Given the description of an element on the screen output the (x, y) to click on. 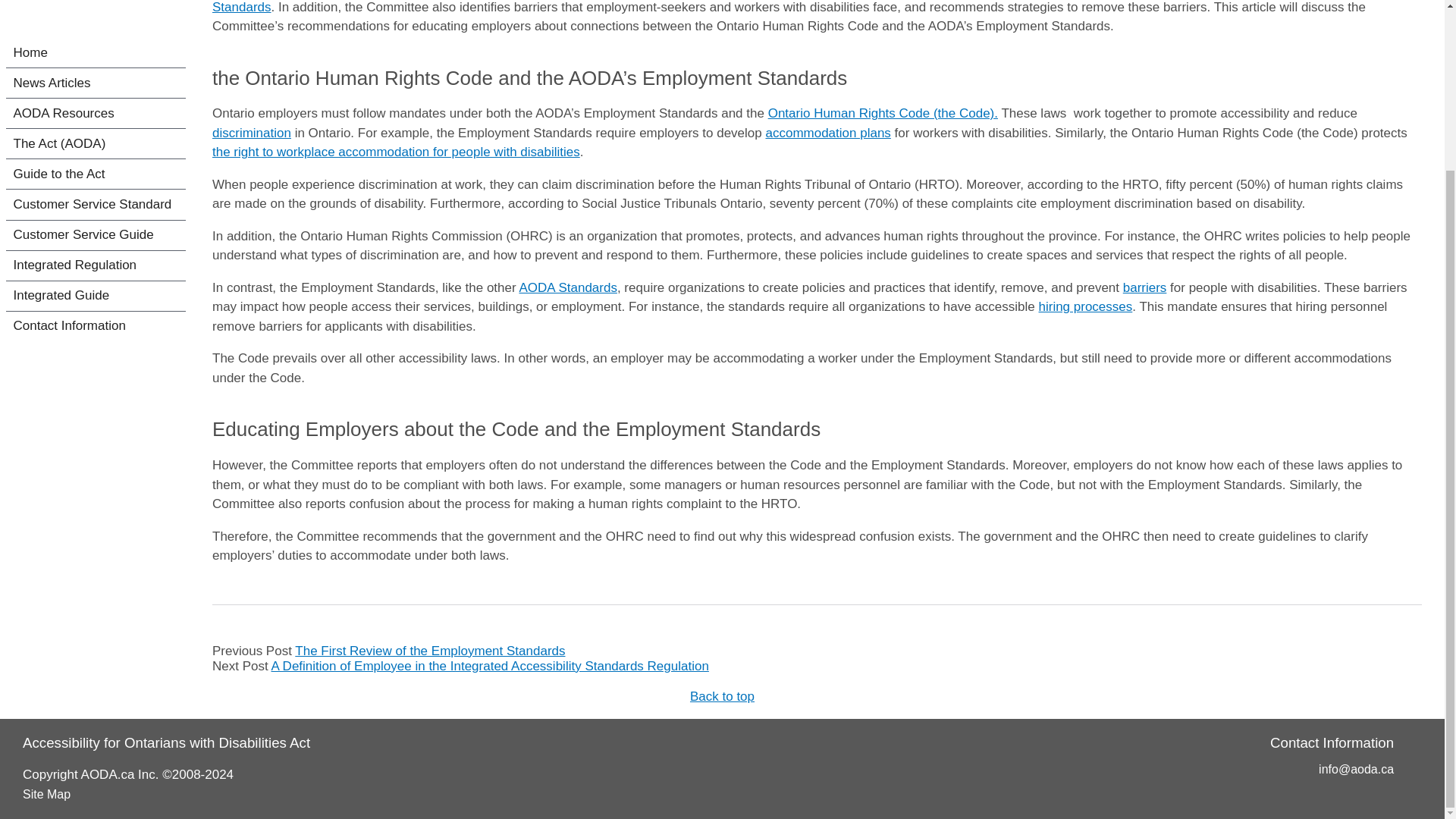
barriers (1144, 287)
Integrated Guide (95, 160)
discrimination (251, 133)
Integrated Regulation (95, 129)
Customer Service Guide (95, 99)
Contact Information (95, 190)
AODA Standards (566, 287)
Employment Standards (791, 7)
Customer Service Standard (95, 68)
